Given the description of an element on the screen output the (x, y) to click on. 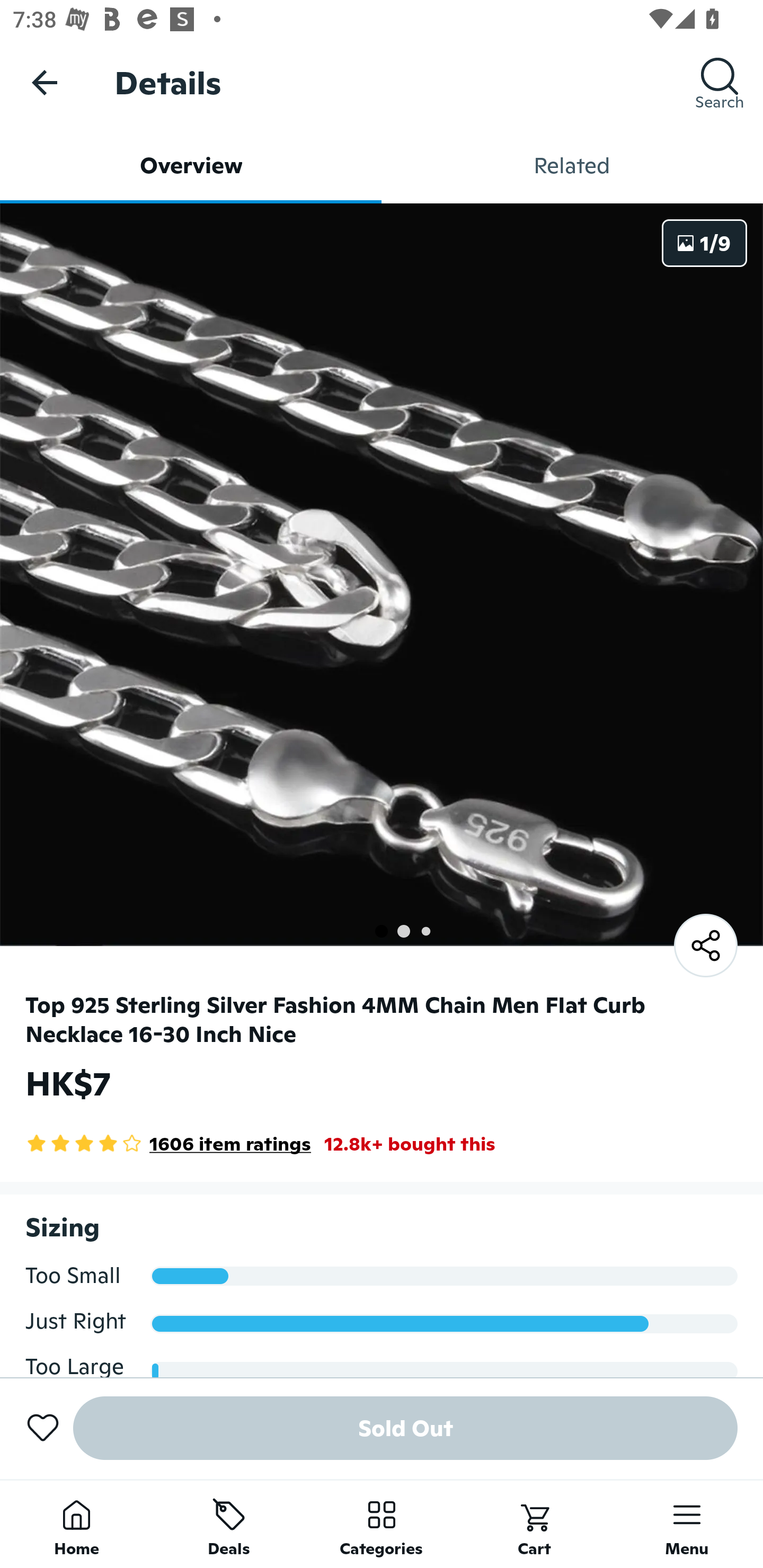
Navigate up (44, 82)
Search (719, 82)
Related (572, 165)
1/9 (704, 242)
4.2 Star Rating 1606 item ratings (168, 1143)
Sold Out (405, 1428)
Home (76, 1523)
Deals (228, 1523)
Categories (381, 1523)
Cart (533, 1523)
Menu (686, 1523)
